Given the description of an element on the screen output the (x, y) to click on. 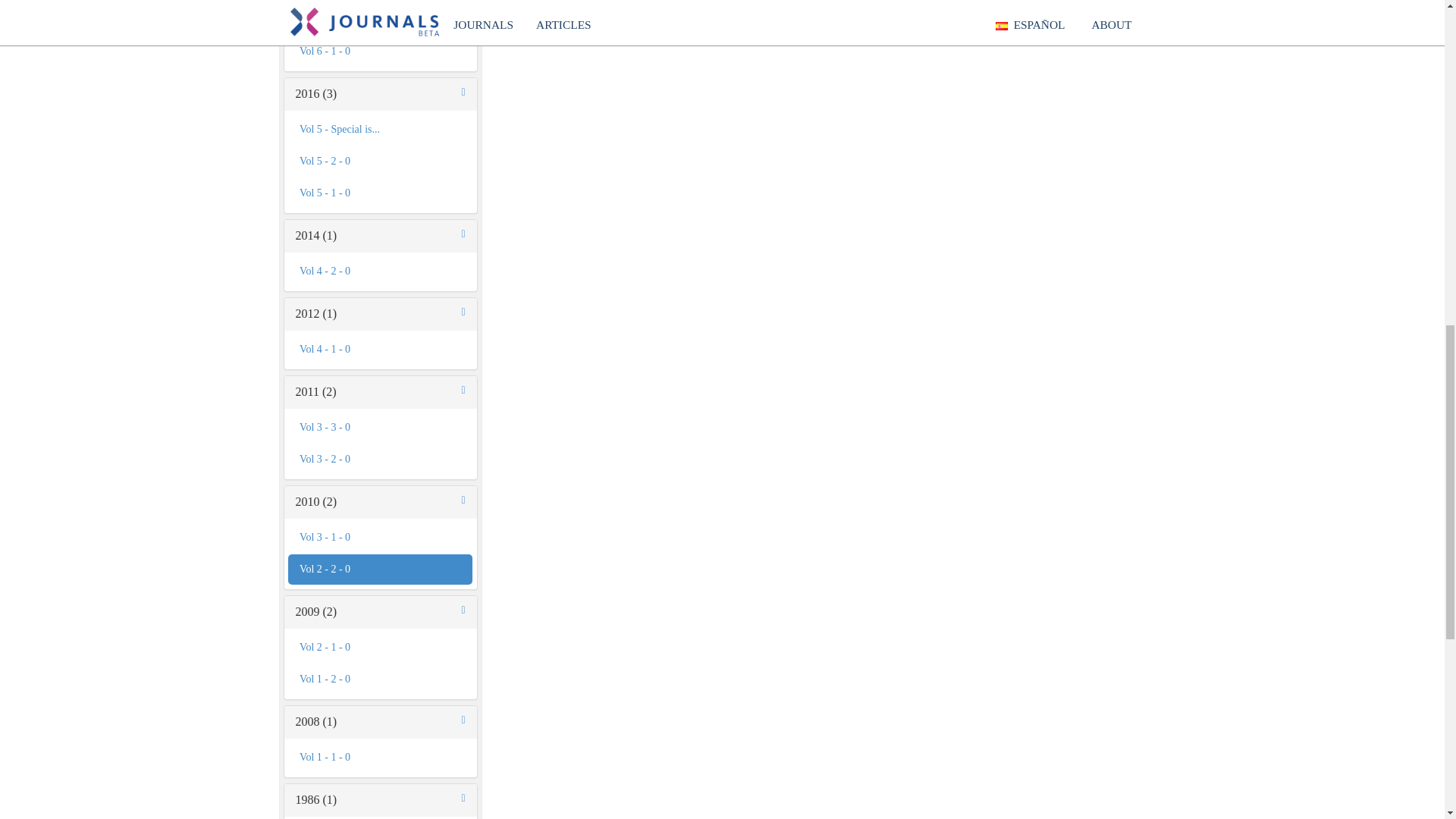
Vol 5 - Special is... (379, 129)
Vol 5 - 2 - 0 (379, 161)
Vol 6 - 1 - 0 (379, 51)
